Given the description of an element on the screen output the (x, y) to click on. 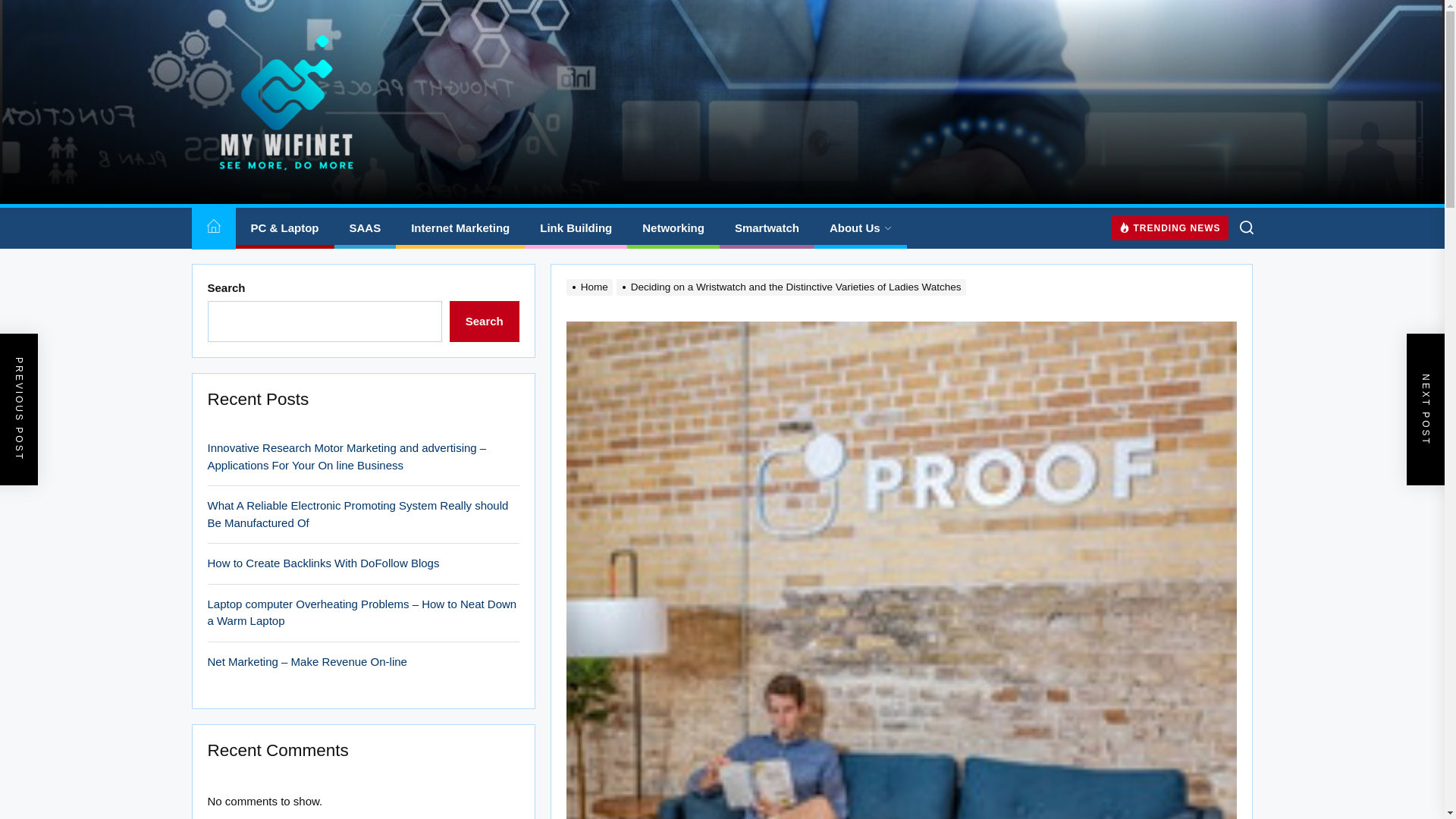
Internet Marketing (460, 228)
About Us (860, 228)
Home (212, 228)
Networking (673, 228)
TRENDING NEWS (1170, 227)
Smartwatch (766, 228)
SAAS (364, 228)
My Wifinet (281, 199)
Link Building (575, 228)
